Given the description of an element on the screen output the (x, y) to click on. 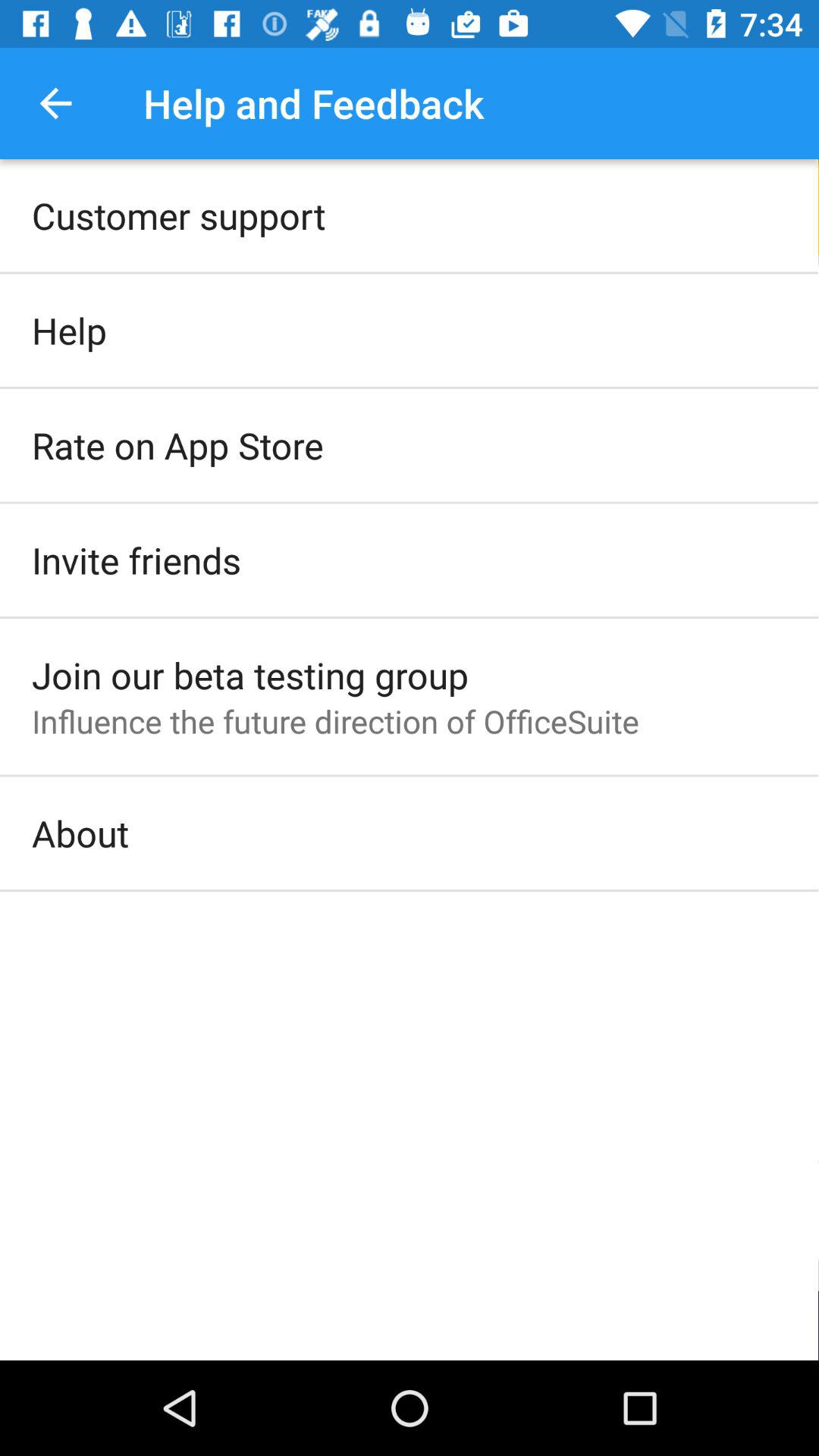
press the item next to help and feedback item (55, 103)
